Given the description of an element on the screen output the (x, y) to click on. 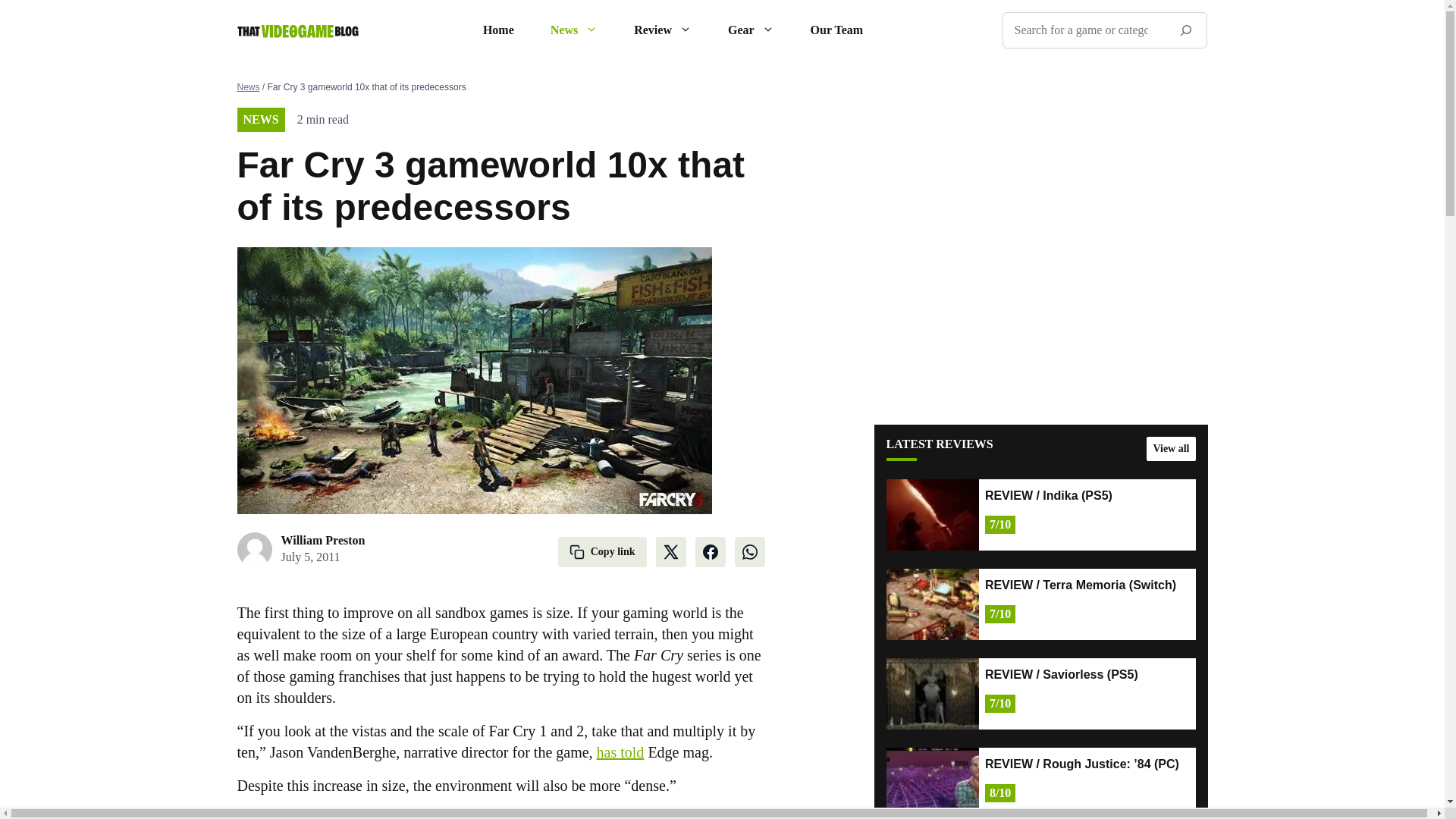
Gear (751, 29)
Home (498, 29)
Review (662, 29)
News (573, 29)
